Given the description of an element on the screen output the (x, y) to click on. 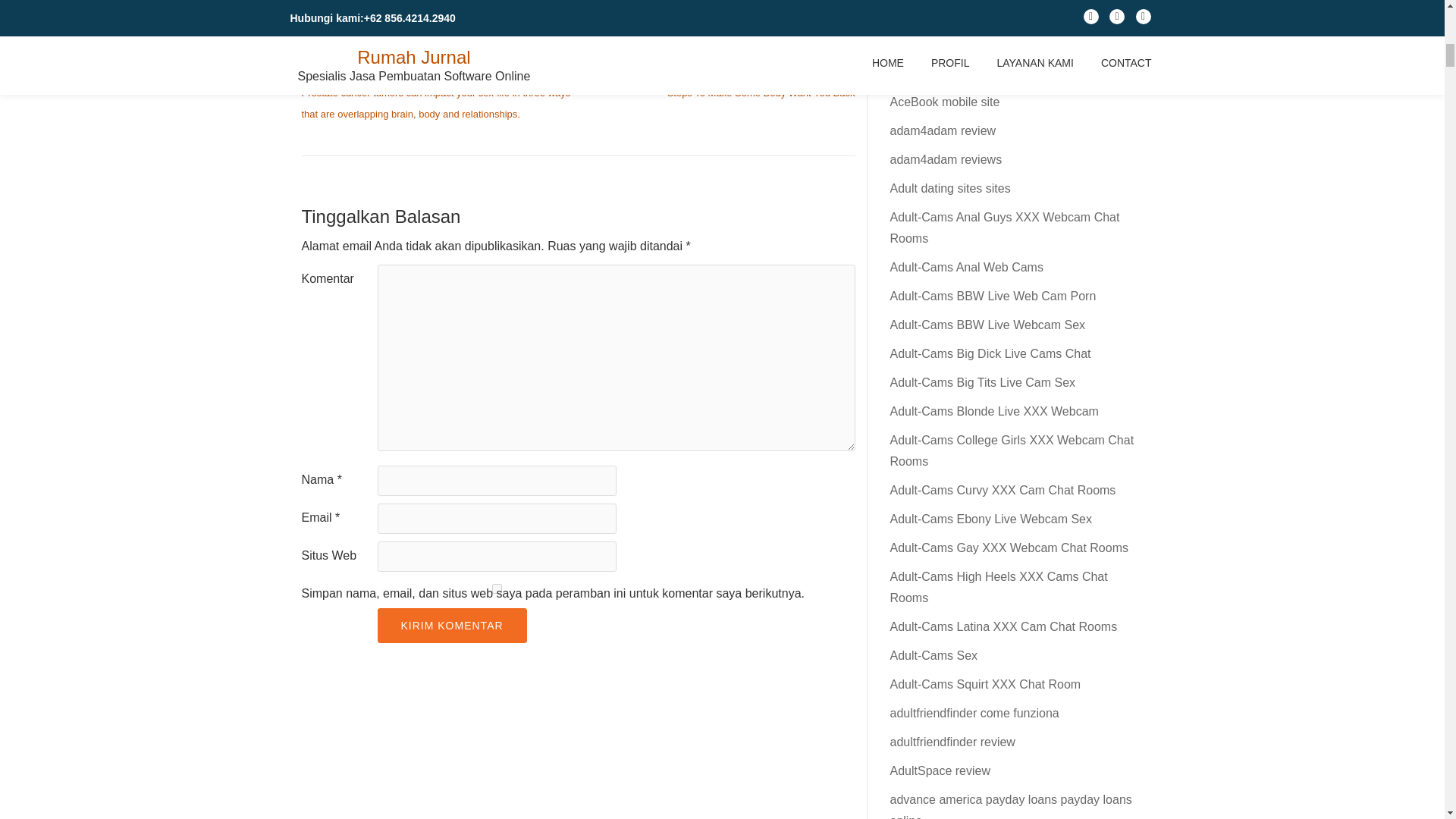
yes (496, 588)
Kirim Komentar (452, 625)
definition installment loans (446, 11)
Steps To Make Some Body Want You Back (761, 92)
Kirim Komentar (452, 625)
